Given the description of an element on the screen output the (x, y) to click on. 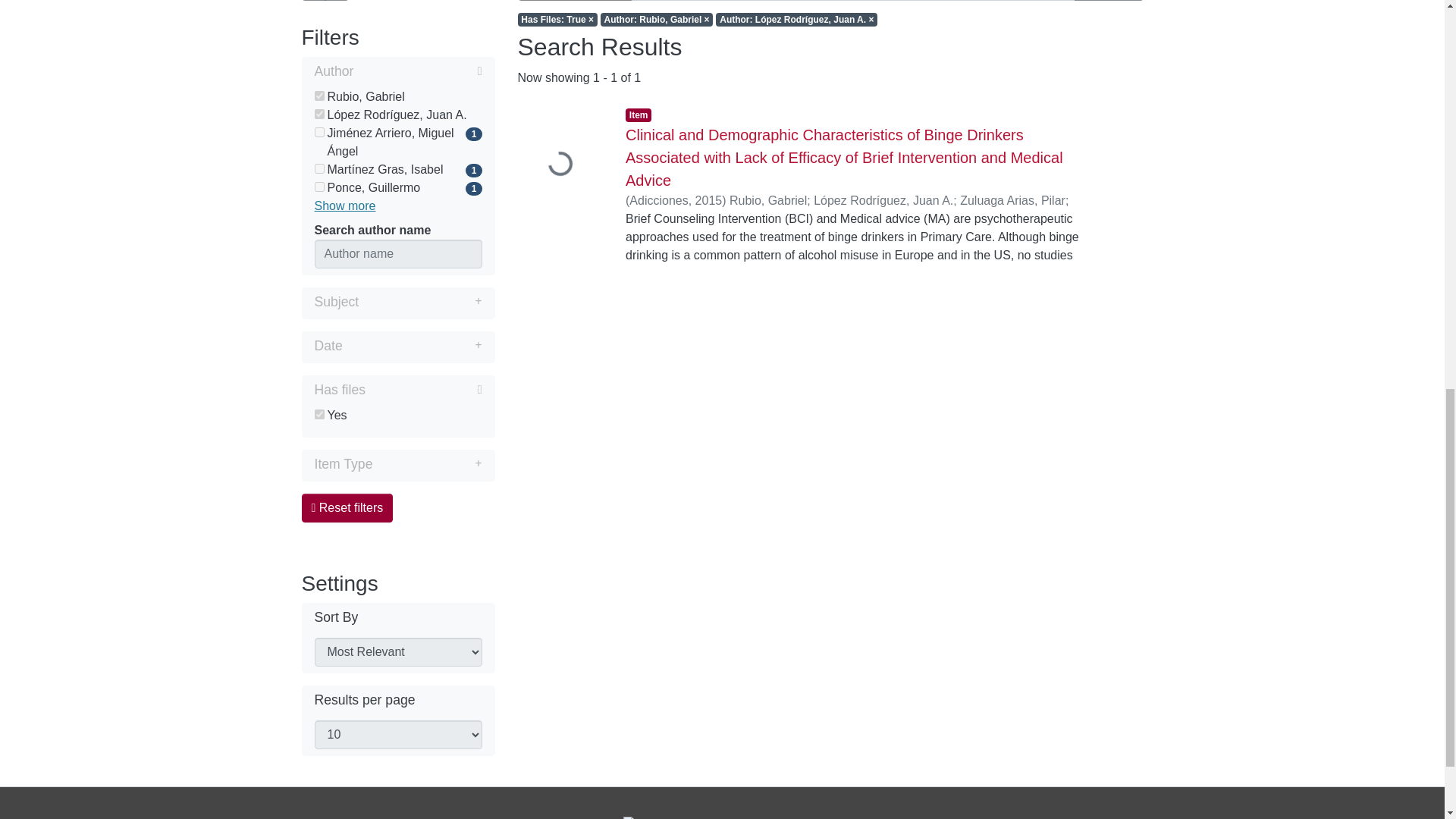
Expand filter (411, 345)
on (318, 95)
on (318, 186)
on (318, 113)
Expand filter (426, 464)
Expand filter (419, 301)
Collapse filter (423, 389)
on (318, 168)
Collapse filter (417, 71)
on (318, 132)
Rubio, Gabriel (397, 96)
on (318, 414)
Author (397, 72)
